Given the description of an element on the screen output the (x, y) to click on. 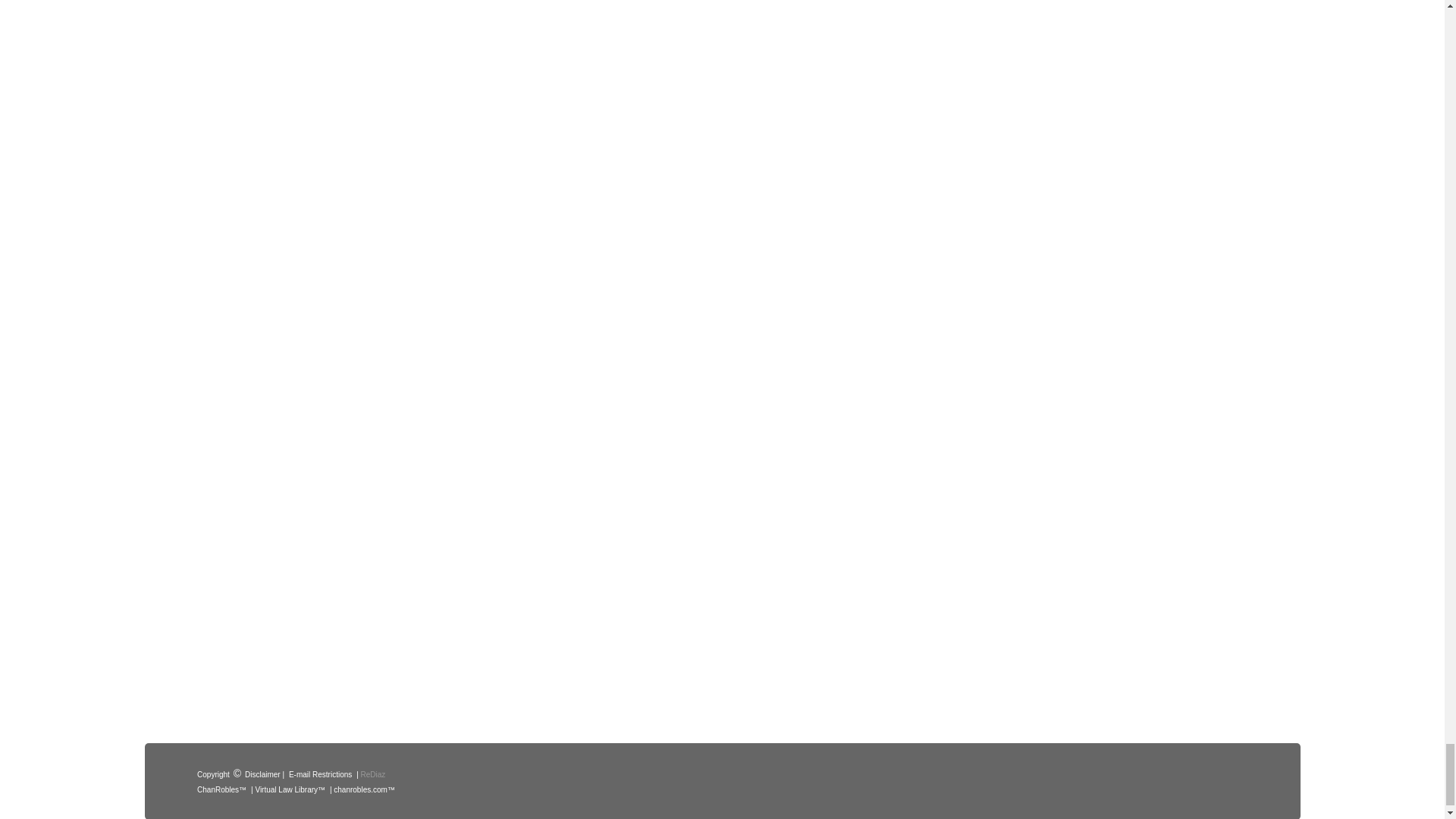
Copyright (213, 773)
E-mail Restrictions (320, 773)
